Given the description of an element on the screen output the (x, y) to click on. 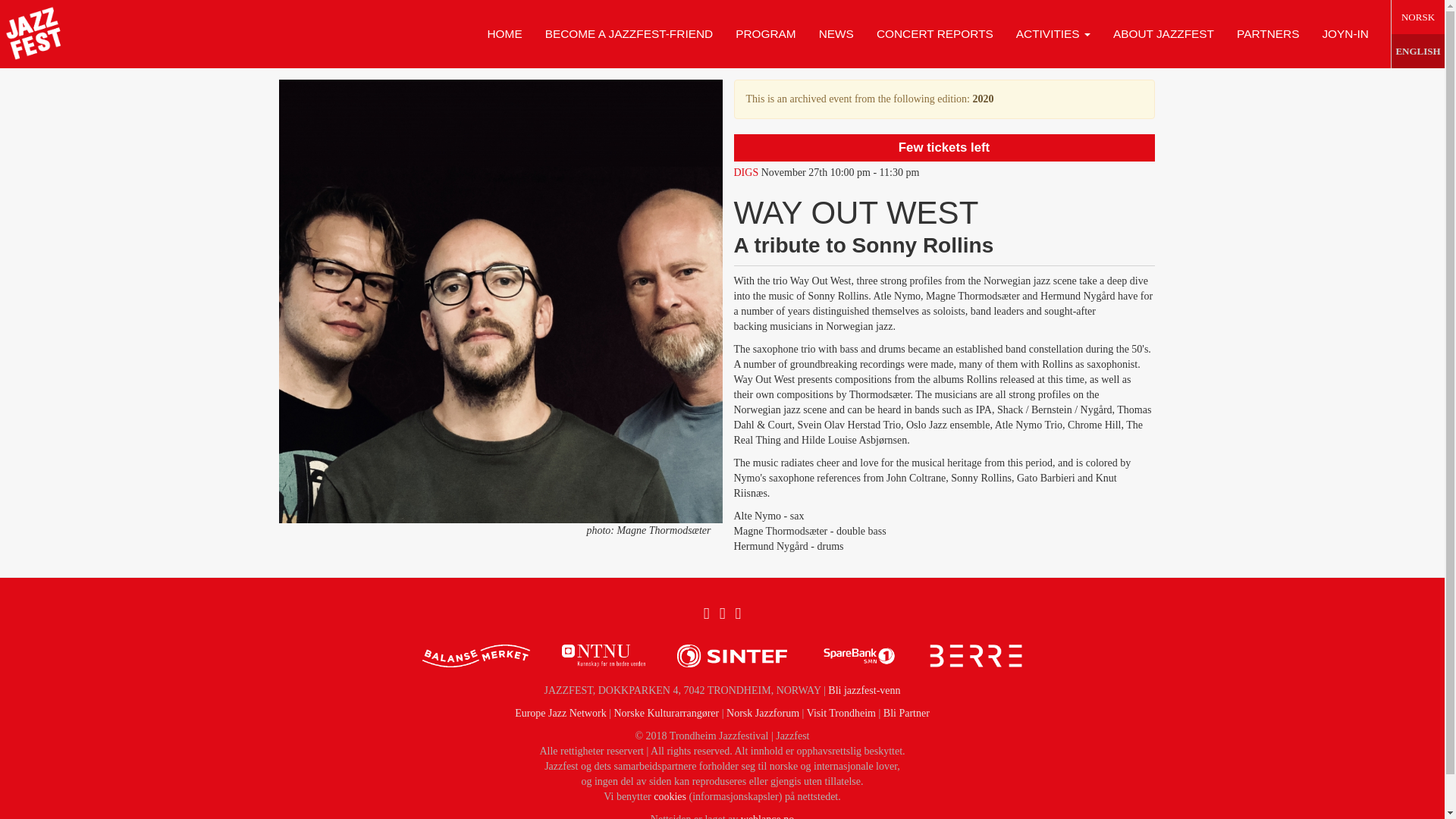
Visit Trondheim (841, 713)
ACTIVITIES (1053, 33)
Norsk Jazzforum (762, 713)
PROGRAM (765, 33)
Bli jazzfest-venn (863, 690)
2020 (982, 98)
Home (34, 33)
BECOME A JAZZFEST-FRIEND (628, 33)
PARTNERS (1267, 33)
